Given the description of an element on the screen output the (x, y) to click on. 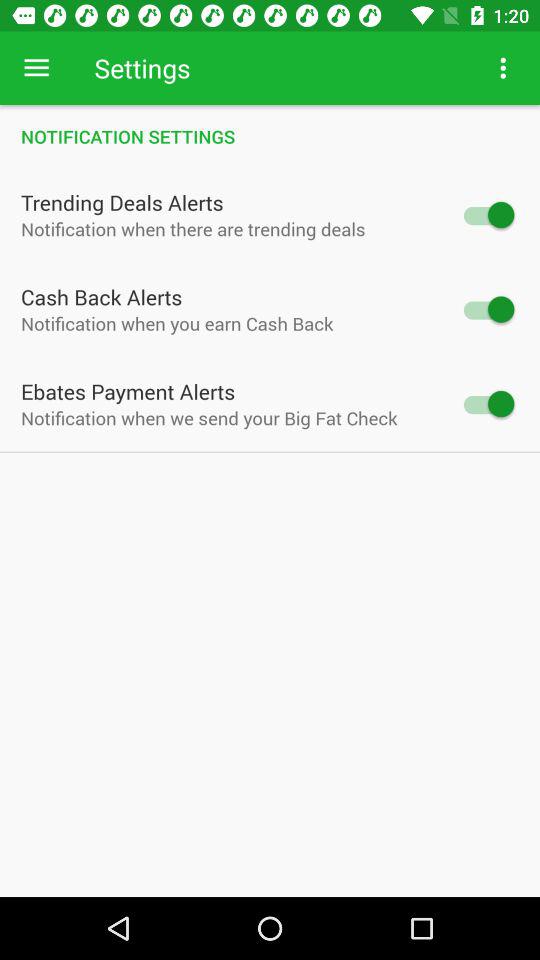
turn off ebates payment alerts item (128, 391)
